Given the description of an element on the screen output the (x, y) to click on. 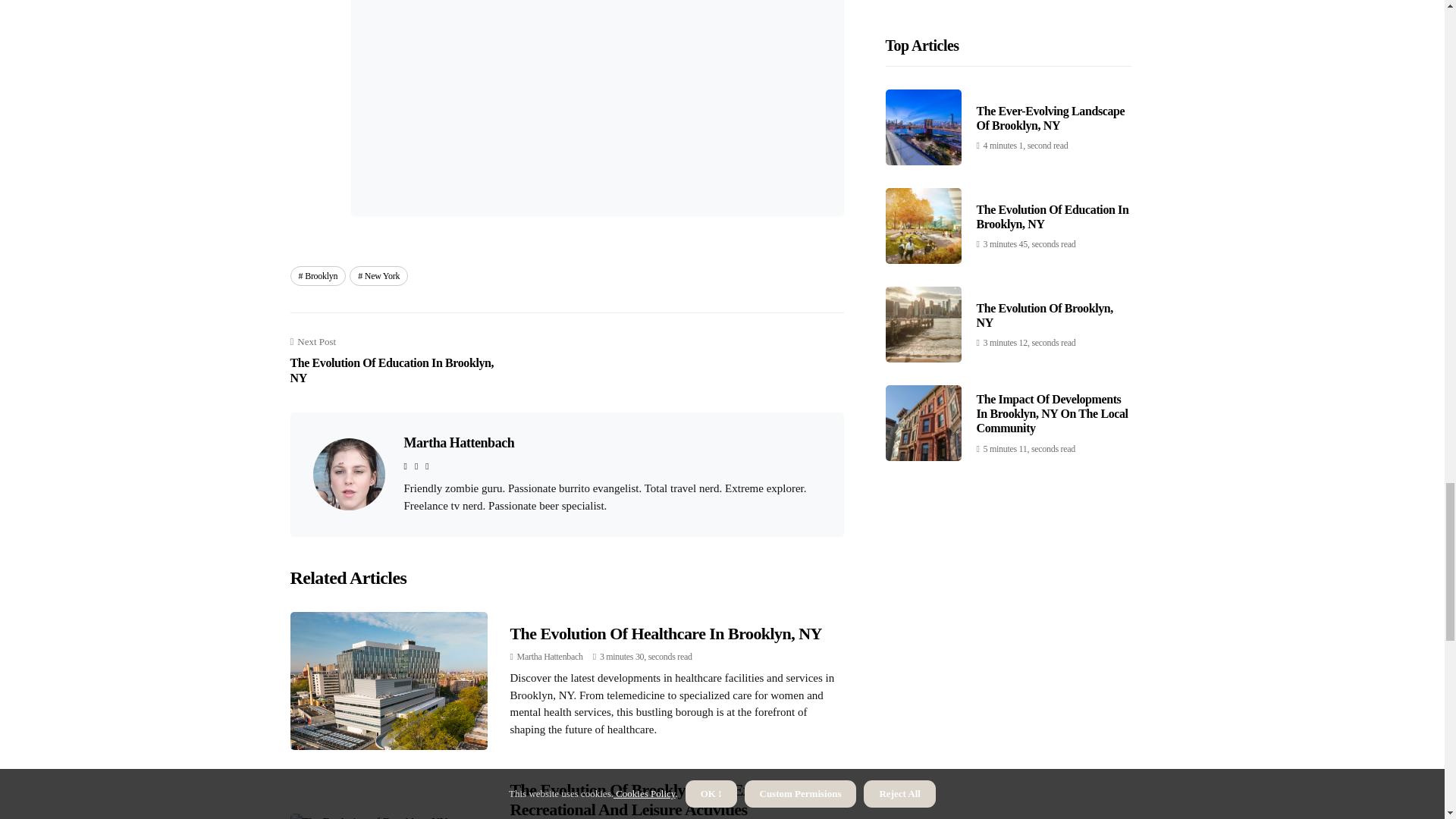
Martha Hattenbach (549, 656)
New York (378, 275)
The Evolution Of Healthcare In Brooklyn, NY (400, 360)
Martha Hattenbach (665, 633)
Brooklyn (458, 442)
Posts by Martha Hattenbach (317, 275)
